Given the description of an element on the screen output the (x, y) to click on. 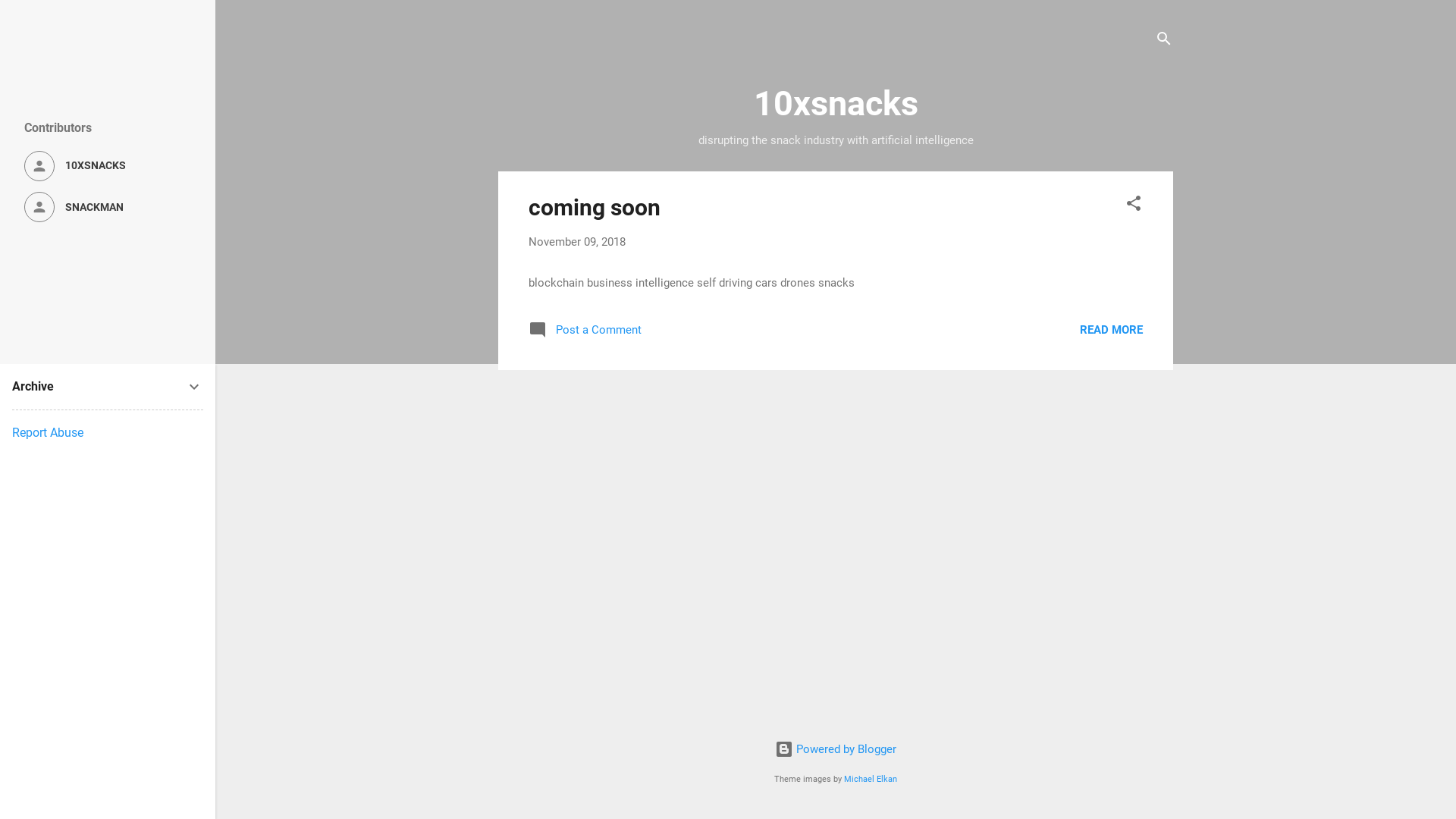
READ MORE Element type: text (1110, 329)
Report Abuse Element type: text (47, 432)
coming soon Element type: text (594, 207)
Michael Elkan Element type: text (870, 779)
Powered by Blogger Element type: text (835, 749)
10XSNACKS Element type: text (107, 165)
SNACKMAN Element type: text (107, 206)
Search Element type: text (28, 18)
November 09, 2018 Element type: text (576, 241)
Post a Comment Element type: text (584, 335)
